Given the description of an element on the screen output the (x, y) to click on. 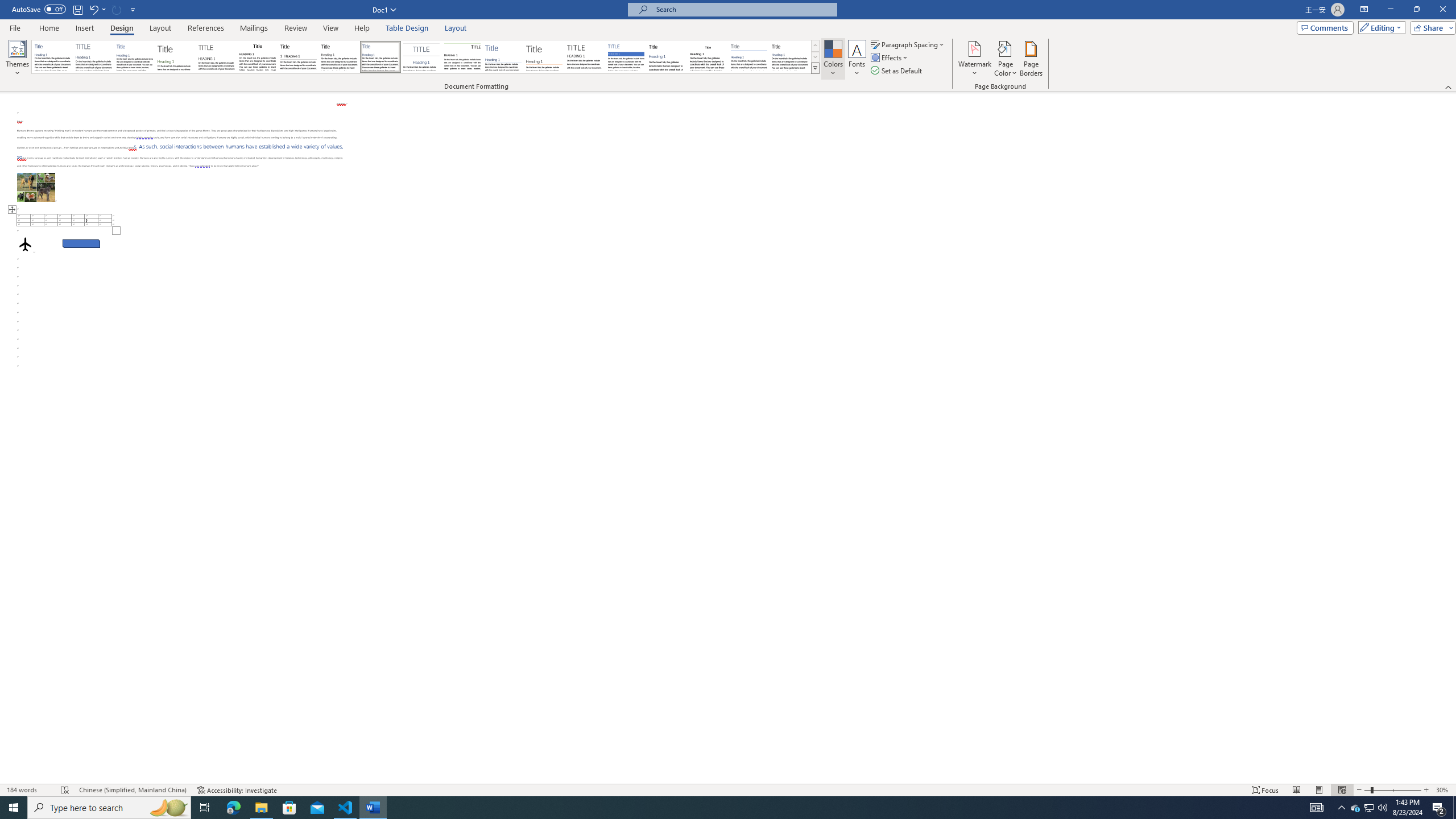
Word 2003 (707, 56)
Basic (Stylish) (175, 56)
Microsoft search (742, 9)
Row up (814, 45)
Word Count 184 words (28, 790)
Can't Repeat (117, 9)
Minimalist (584, 56)
